Given the description of an element on the screen output the (x, y) to click on. 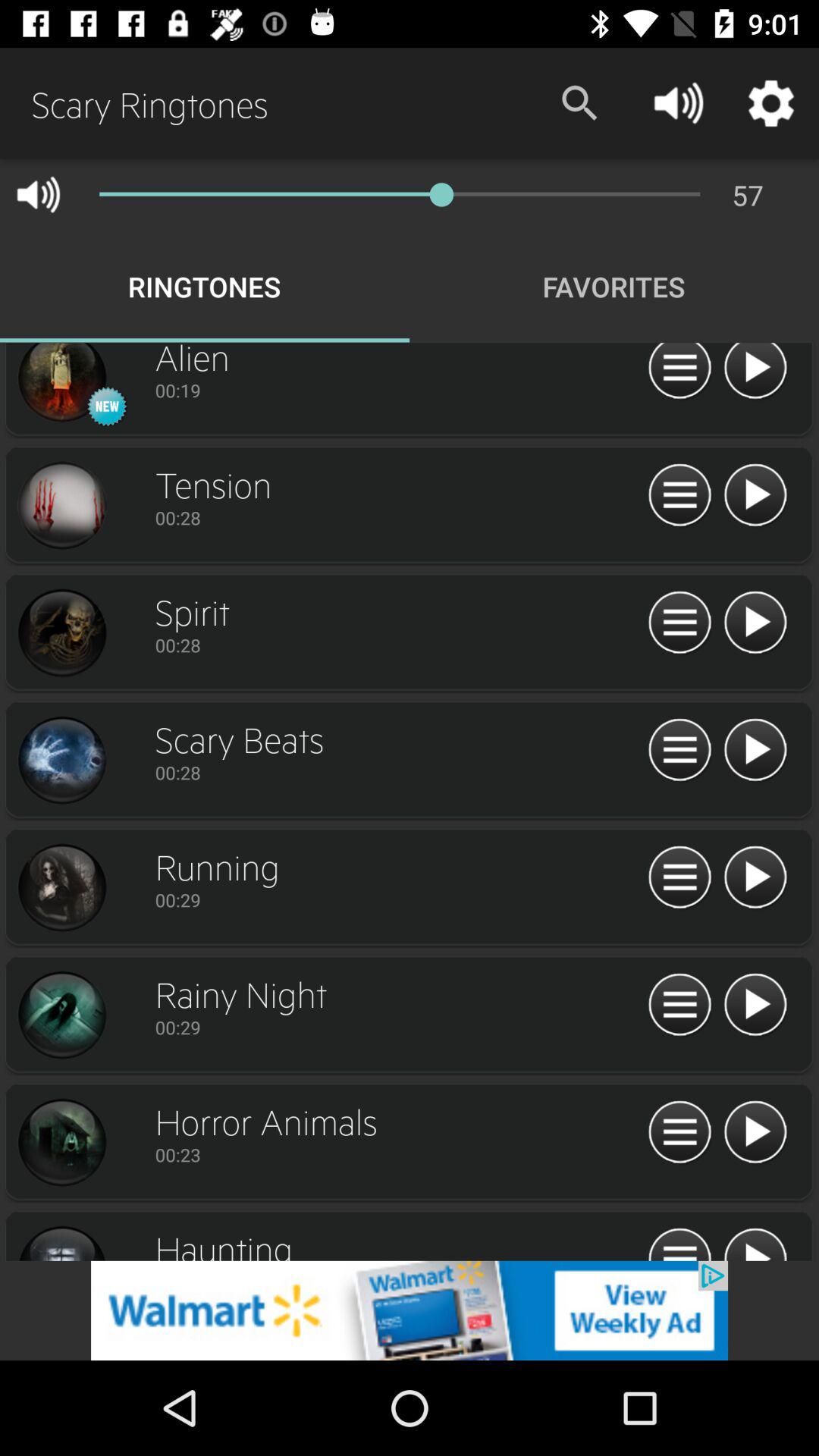
play alien (755, 373)
